Given the description of an element on the screen output the (x, y) to click on. 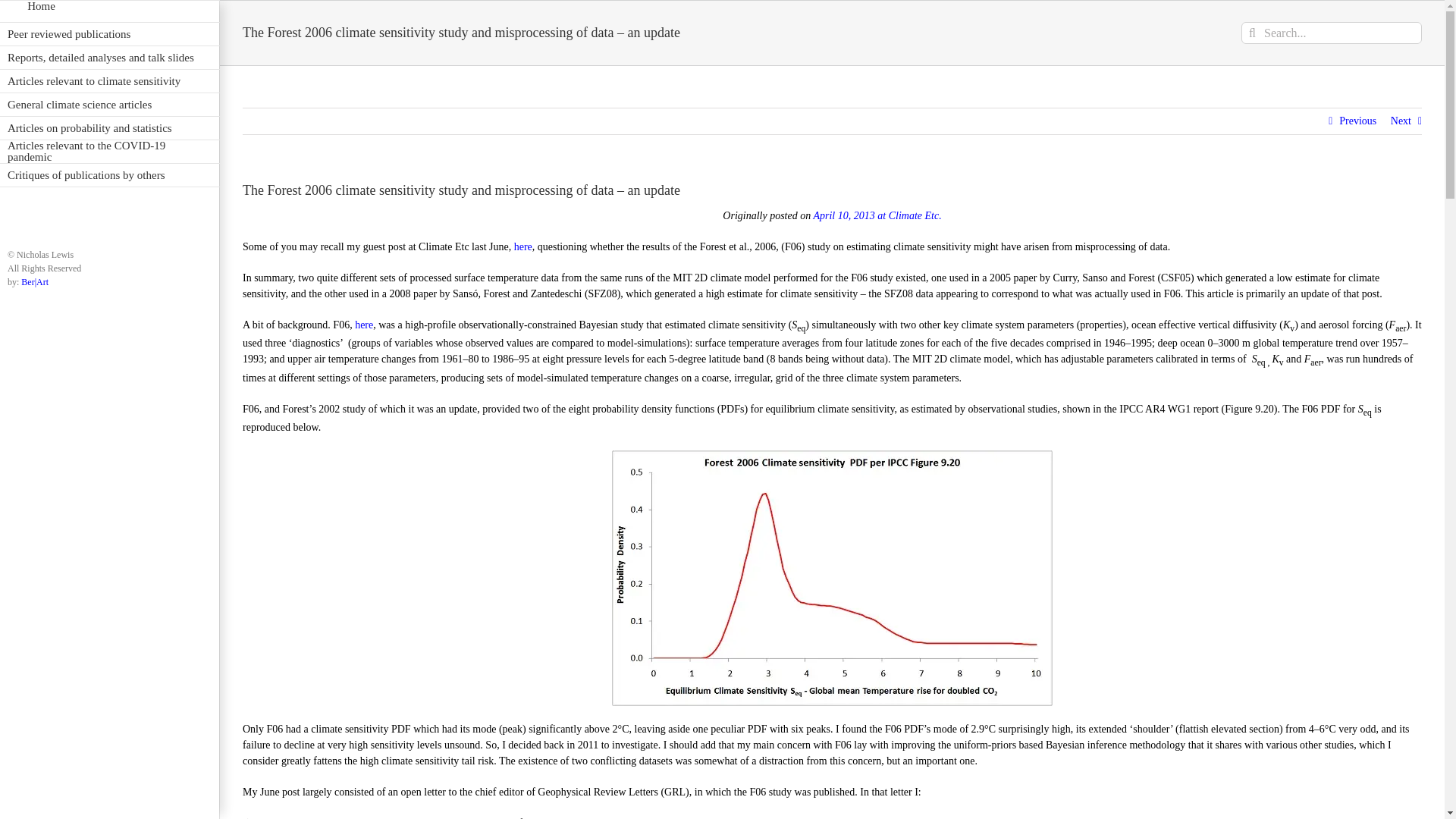
Critiques of publications by others (109, 175)
here (363, 324)
Articles relevant to climate sensitivity (109, 81)
here (522, 246)
Reports, detailed analyses and talk slides (109, 57)
Peer reviewed publications (109, 33)
Articles relevant to the COVID-19 pandemic (109, 151)
April 10, 2013 at Climate Etc. (876, 215)
Home (109, 11)
WordPress Hosting Design Social Media (34, 281)
